Given the description of an element on the screen output the (x, y) to click on. 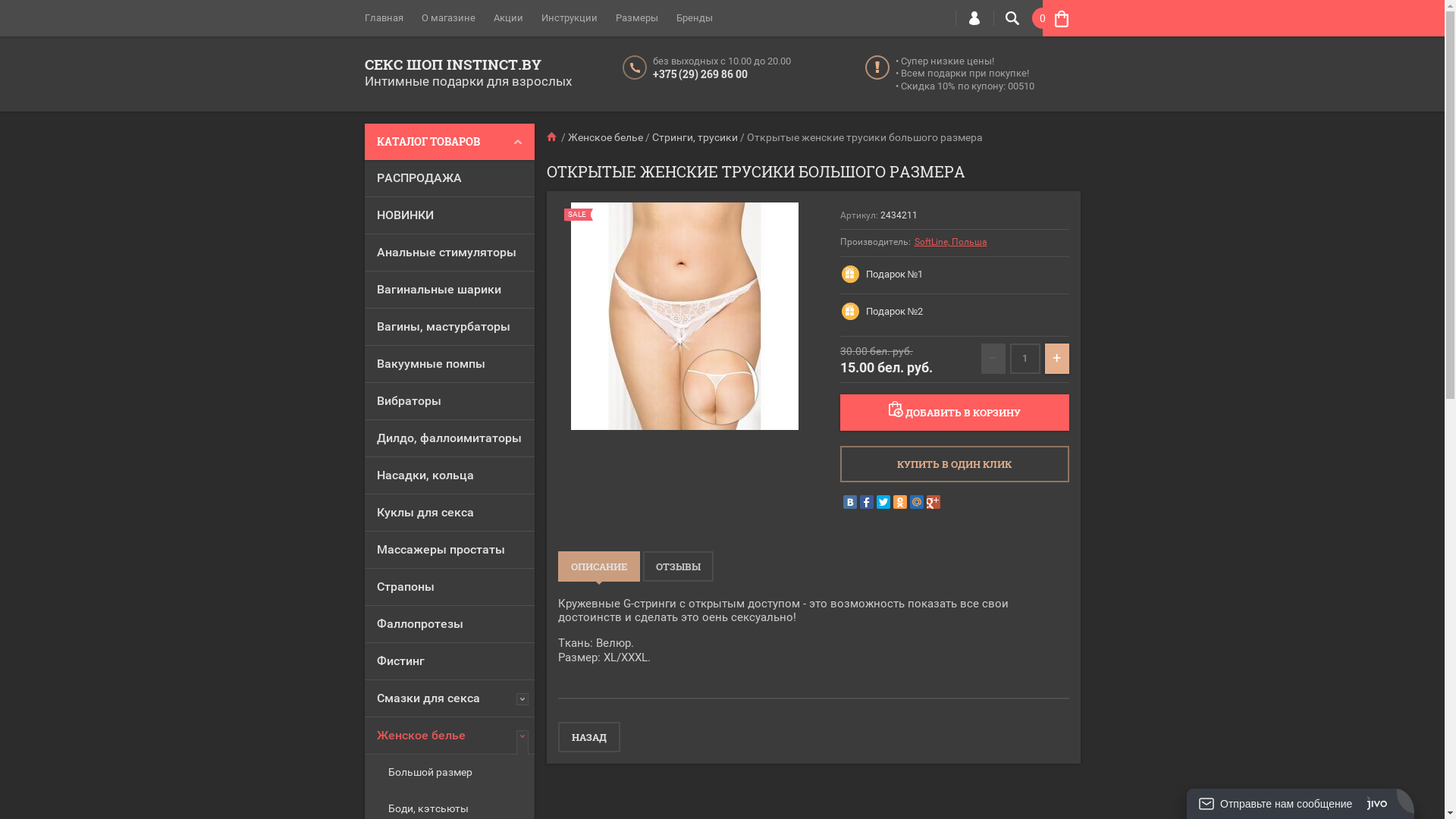
Google Plus Element type: hover (933, 501)
Twitter Element type: hover (883, 501)
+ Element type: text (1056, 358)
Facebook Element type: hover (866, 501)
+375 (29) 269 86 00 Element type: text (699, 73)
